Given the description of an element on the screen output the (x, y) to click on. 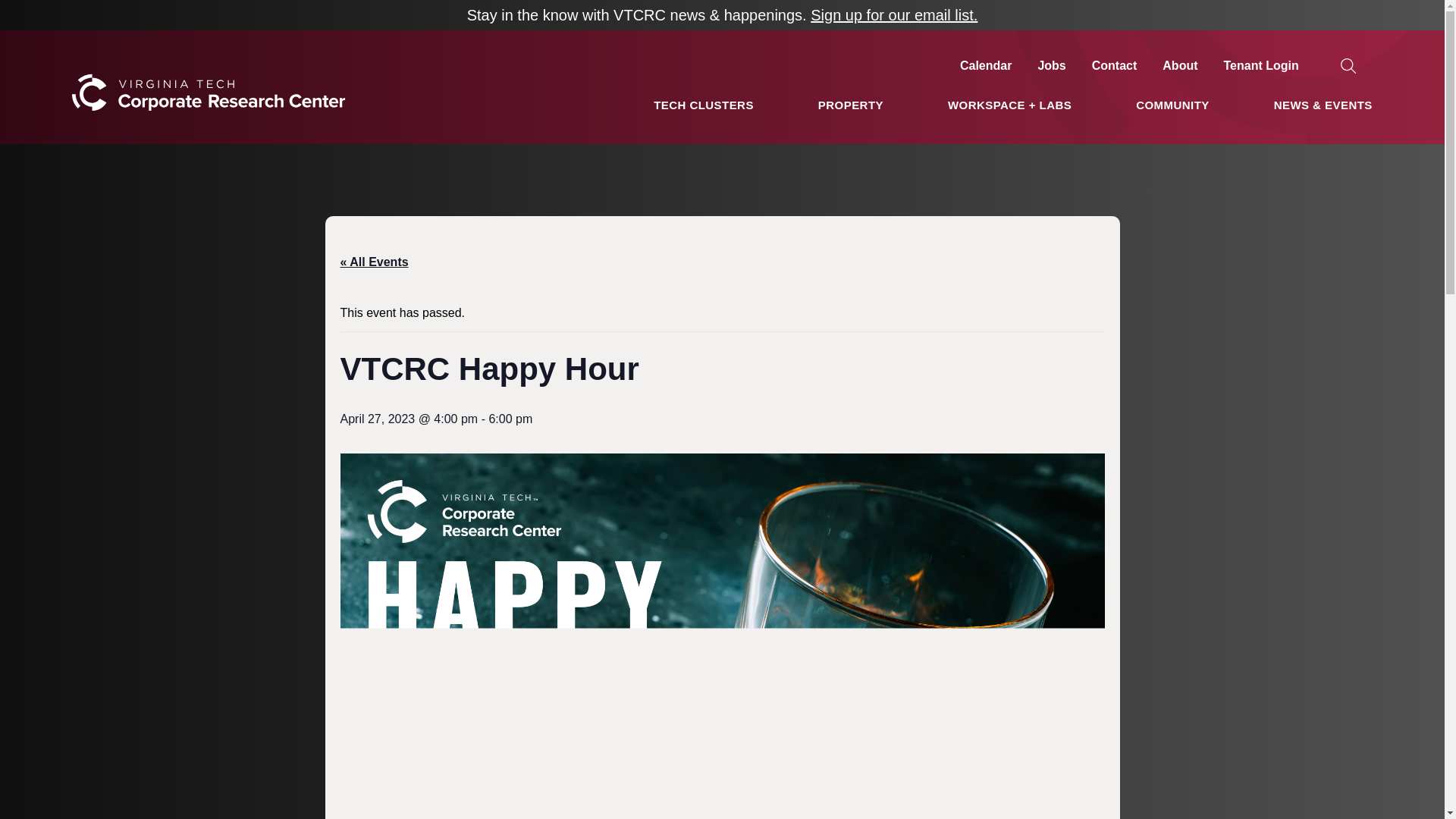
Contact (1114, 65)
PROPERTY (850, 105)
TECH CLUSTERS (703, 105)
Virginia Tech Corporate Research Center (207, 137)
Sign up for our email list. (893, 14)
Tenant Login (1261, 65)
Search (32, 12)
COMMUNITY (1172, 105)
Jobs (1050, 65)
Calendar (985, 65)
